Given the description of an element on the screen output the (x, y) to click on. 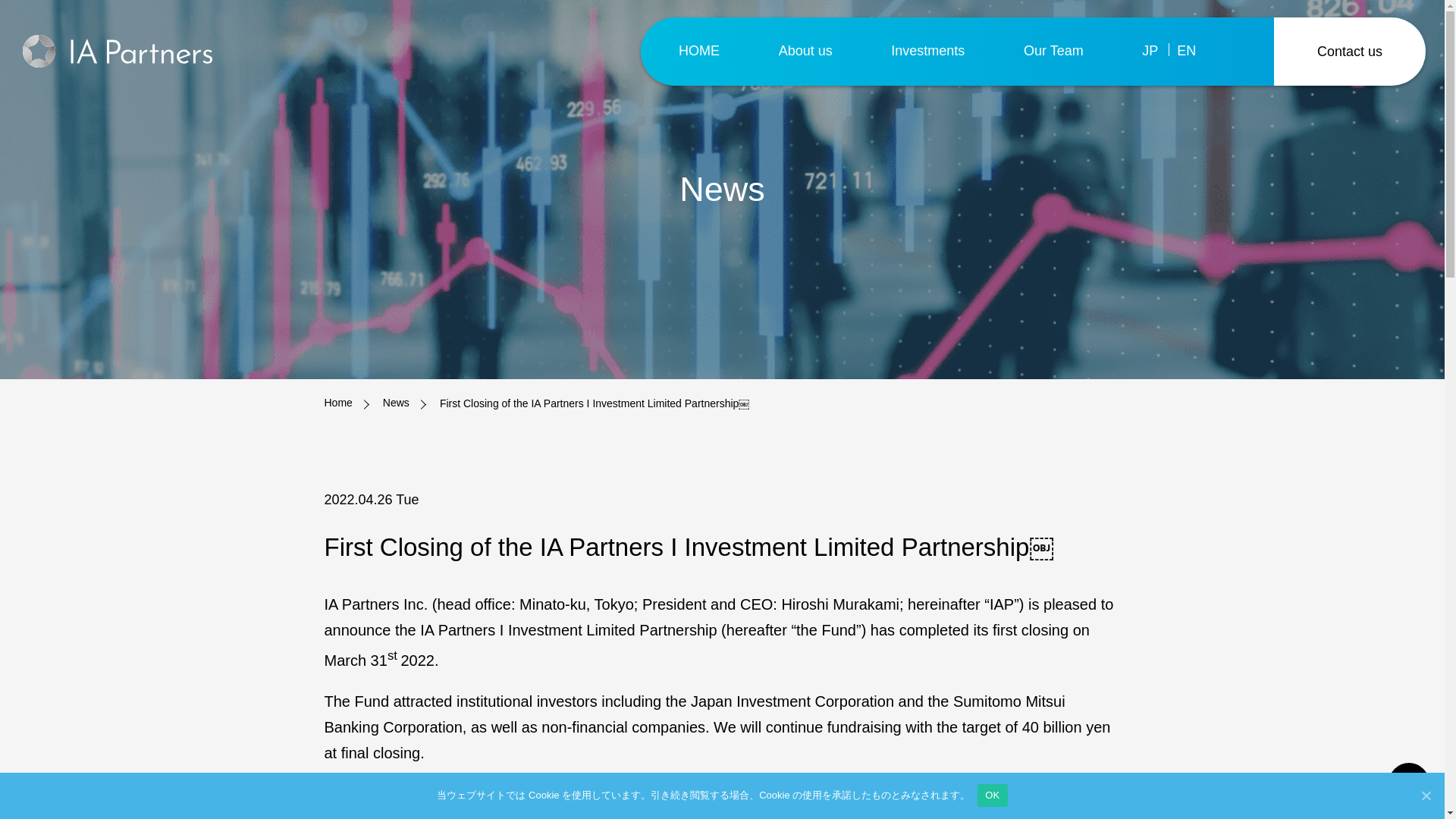
Home (338, 402)
EN (1195, 50)
Our Team (1053, 50)
OK (991, 794)
News (395, 402)
HOME (698, 50)
Contact us (1349, 50)
Investments (927, 50)
JP (1158, 50)
